Given the description of an element on the screen output the (x, y) to click on. 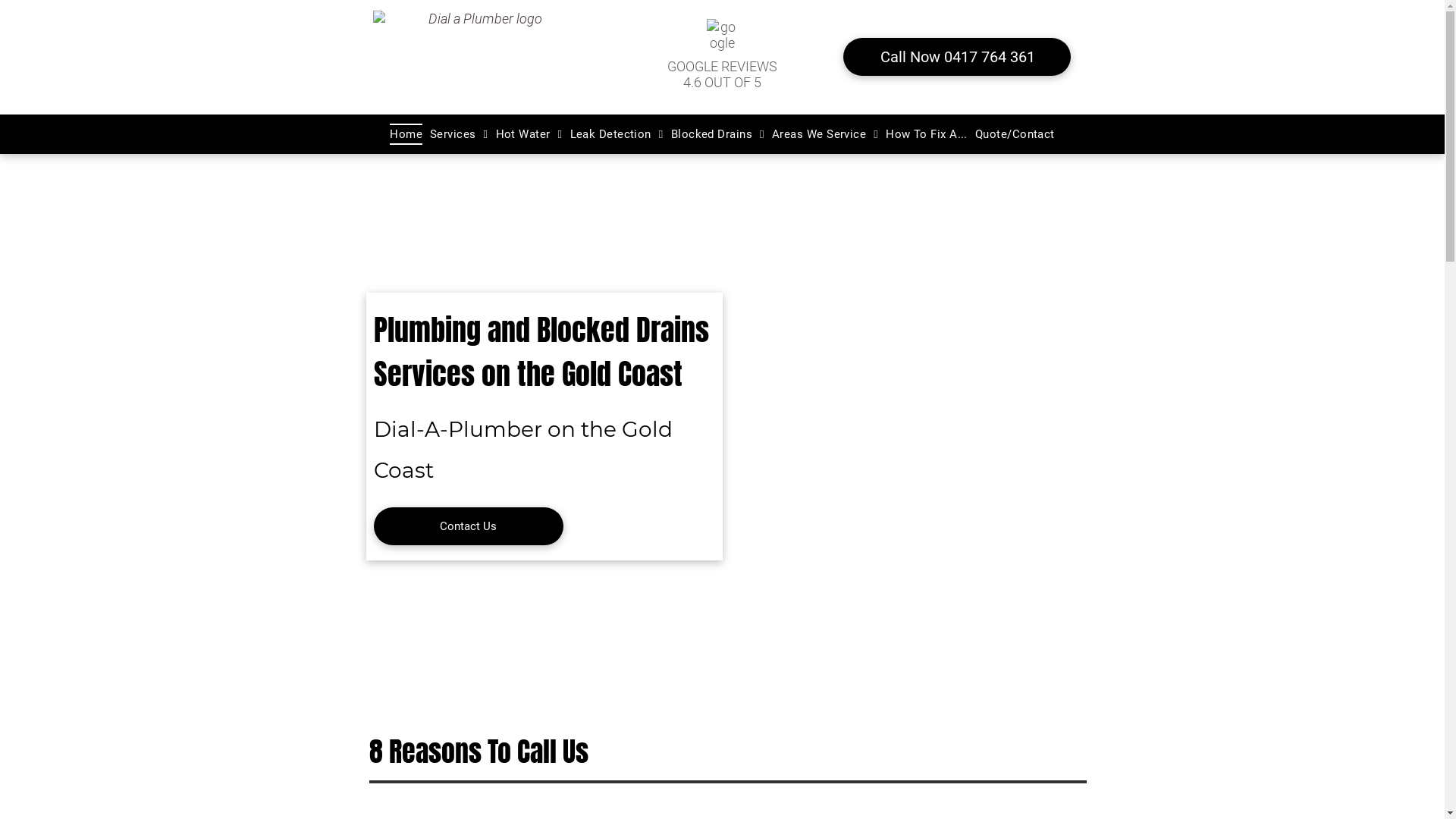
Services Element type: text (459, 133)
Blocked Drains Element type: text (717, 133)
Leak Detection Element type: text (616, 133)
Areas We Service Element type: text (824, 133)
How To Fix A... Element type: text (926, 133)
Home Element type: text (405, 133)
Quote/Contact Element type: text (1014, 133)
Contact Us Element type: text (467, 526)
Call Now 0417 764 361 Element type: text (956, 56)
Hot Water Element type: text (529, 133)
